Given the description of an element on the screen output the (x, y) to click on. 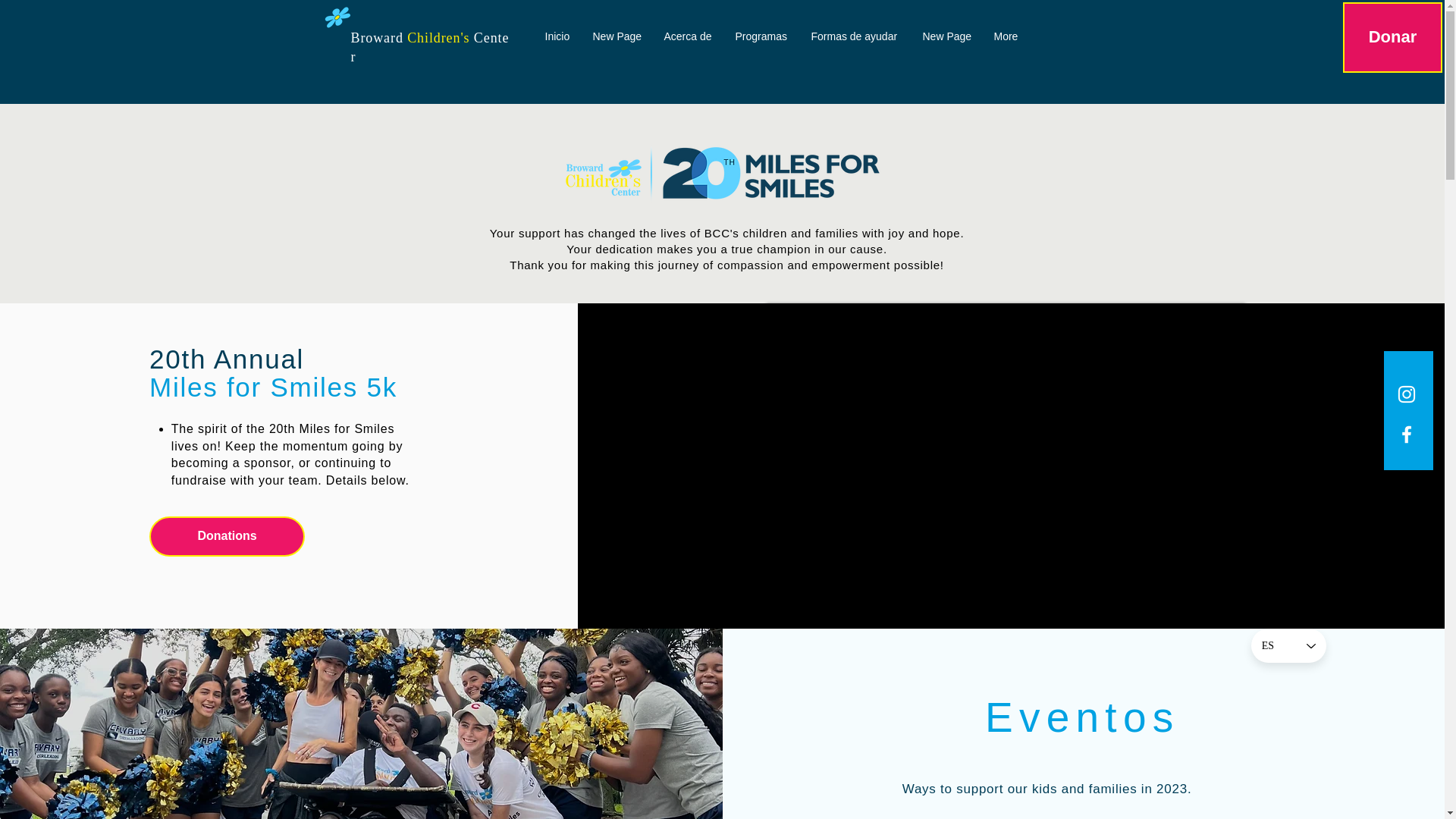
New Page (616, 36)
Inicio (557, 36)
Donar (1392, 37)
New Page (946, 36)
Donations (226, 536)
Formas de ayudar (855, 36)
